Given the description of an element on the screen output the (x, y) to click on. 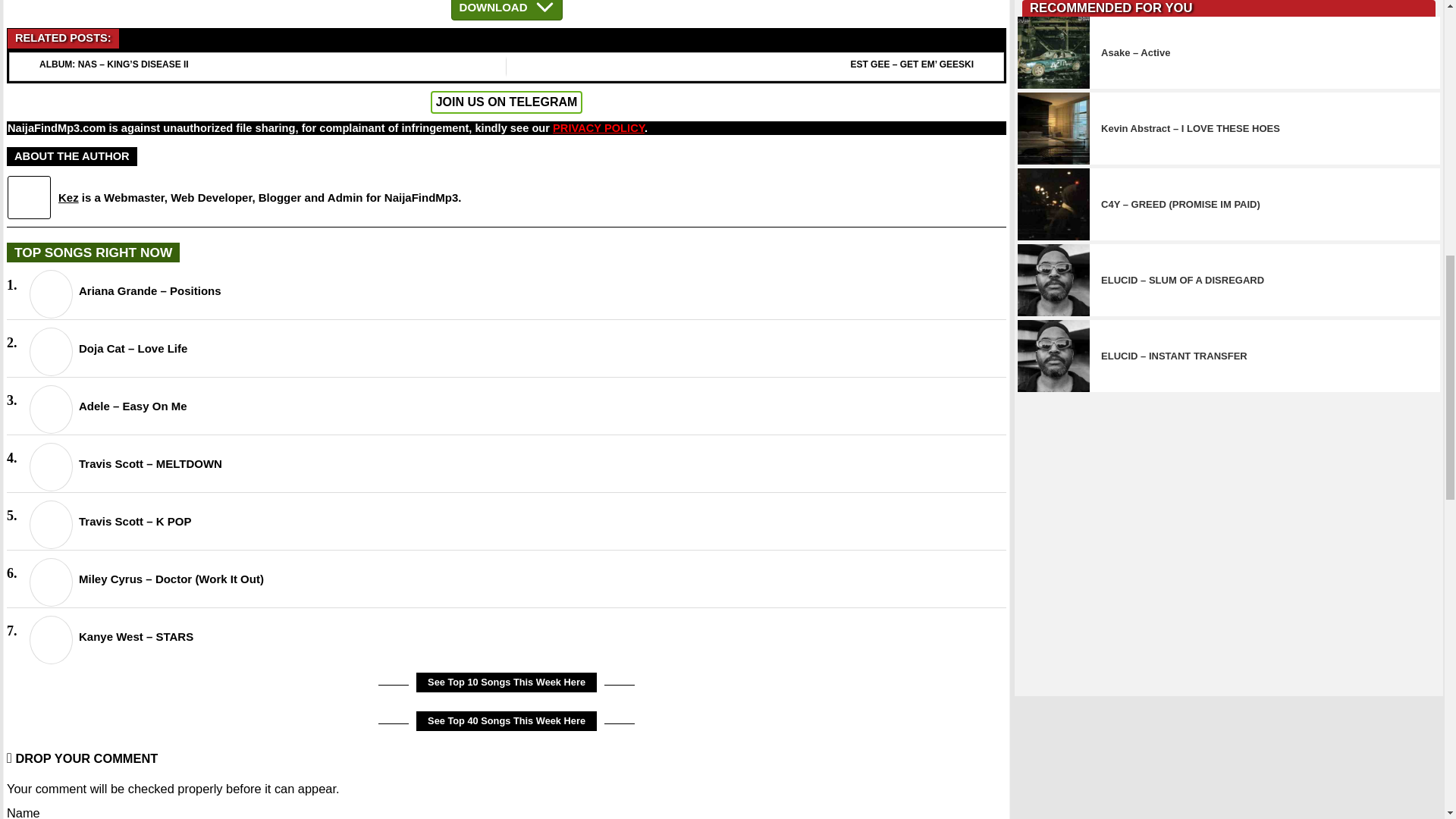
See Top 10 Songs This Week Here (506, 682)
See Top 40 Songs This Week Here (506, 721)
DOWNLOAD (506, 10)
PRIVACY POLICY (599, 127)
JOIN US ON TELEGRAM (506, 101)
